Given the description of an element on the screen output the (x, y) to click on. 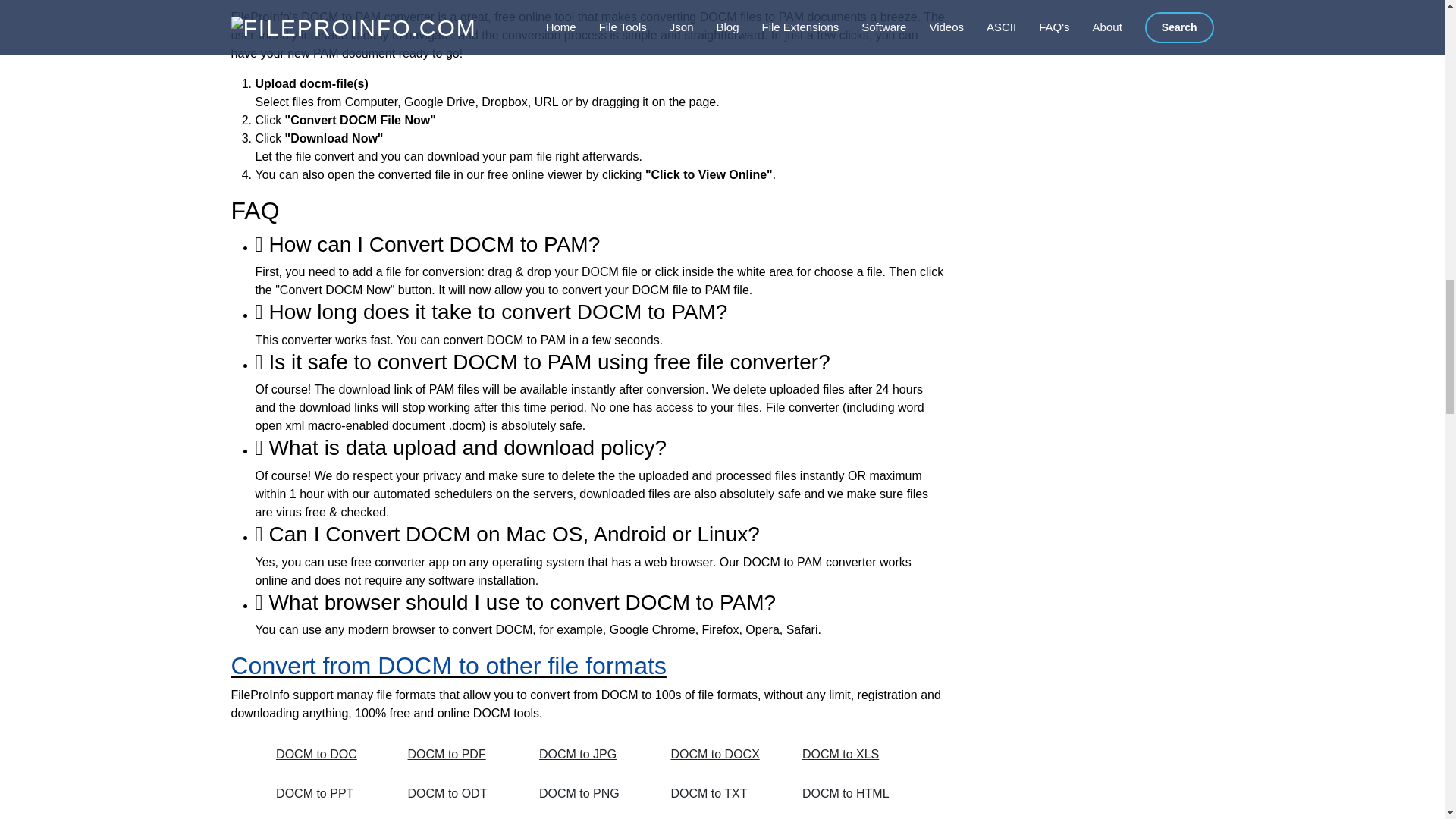
DOCM to XLS (851, 754)
DOCM to DOCX (719, 754)
DOCM to DOC (325, 754)
DOCM to JPG (587, 754)
DOCM to PDF (456, 754)
Convert from DOCM to other file formats (447, 665)
